Given the description of an element on the screen output the (x, y) to click on. 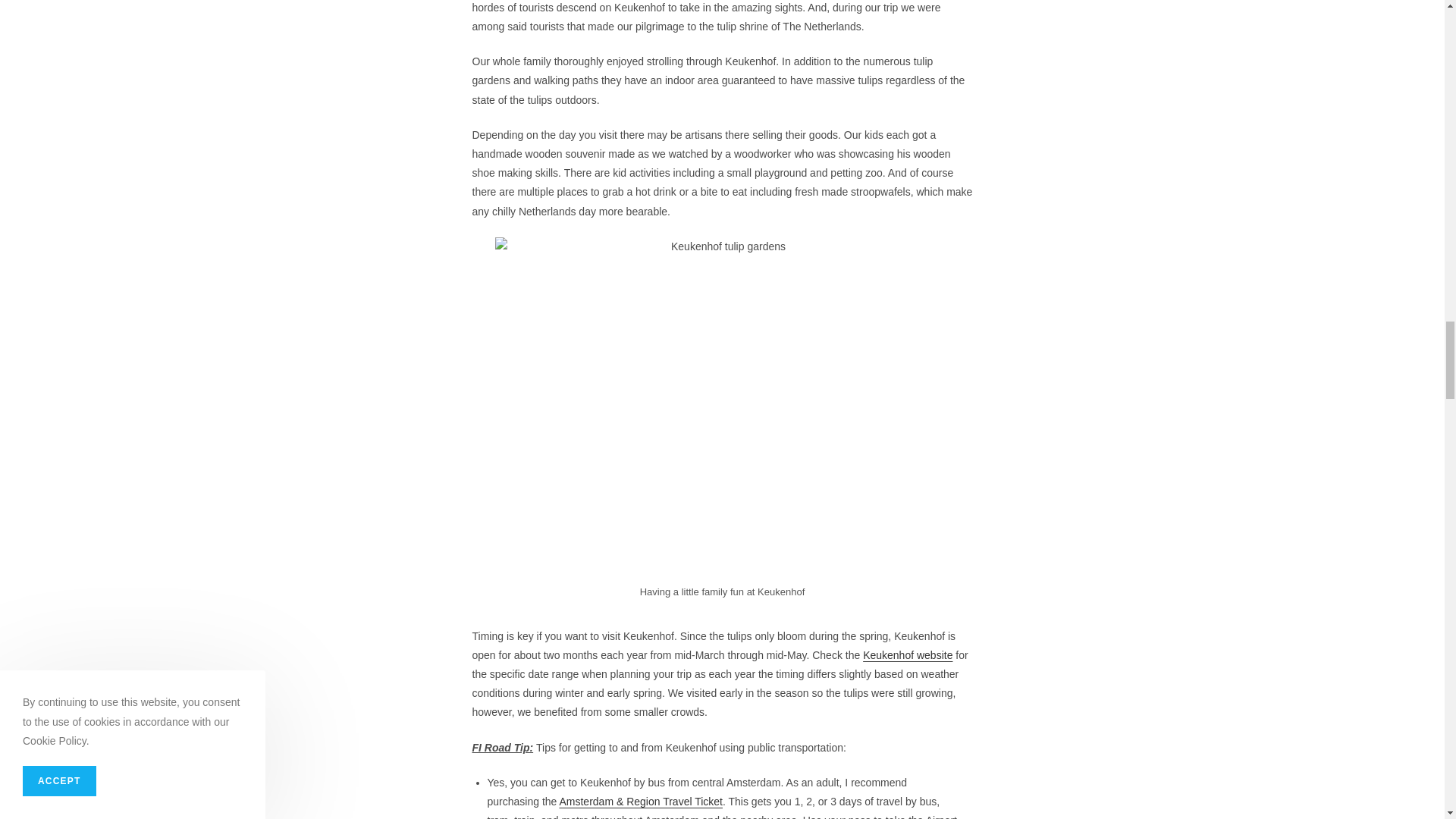
Keukenhof website (907, 654)
